Given the description of an element on the screen output the (x, y) to click on. 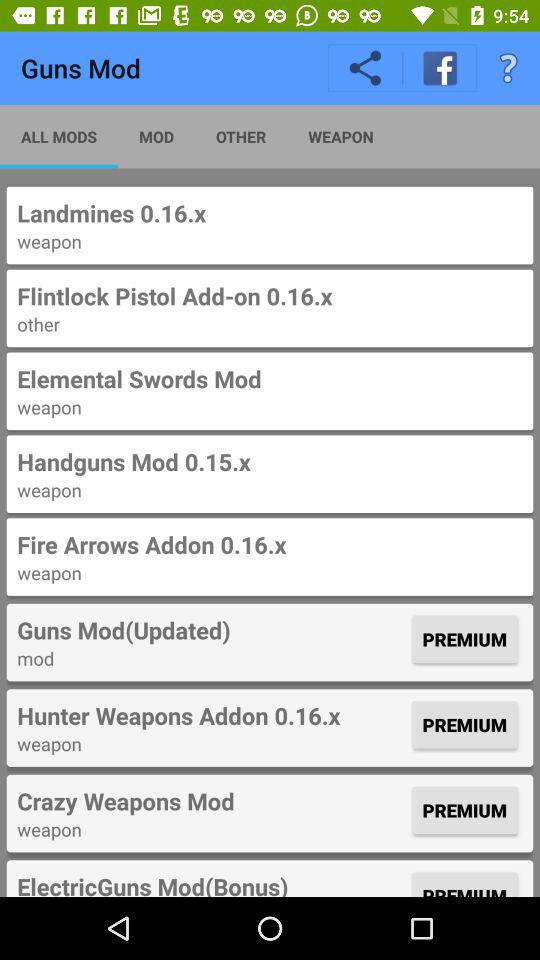
tap the app below the guns mod icon (59, 136)
